Given the description of an element on the screen output the (x, y) to click on. 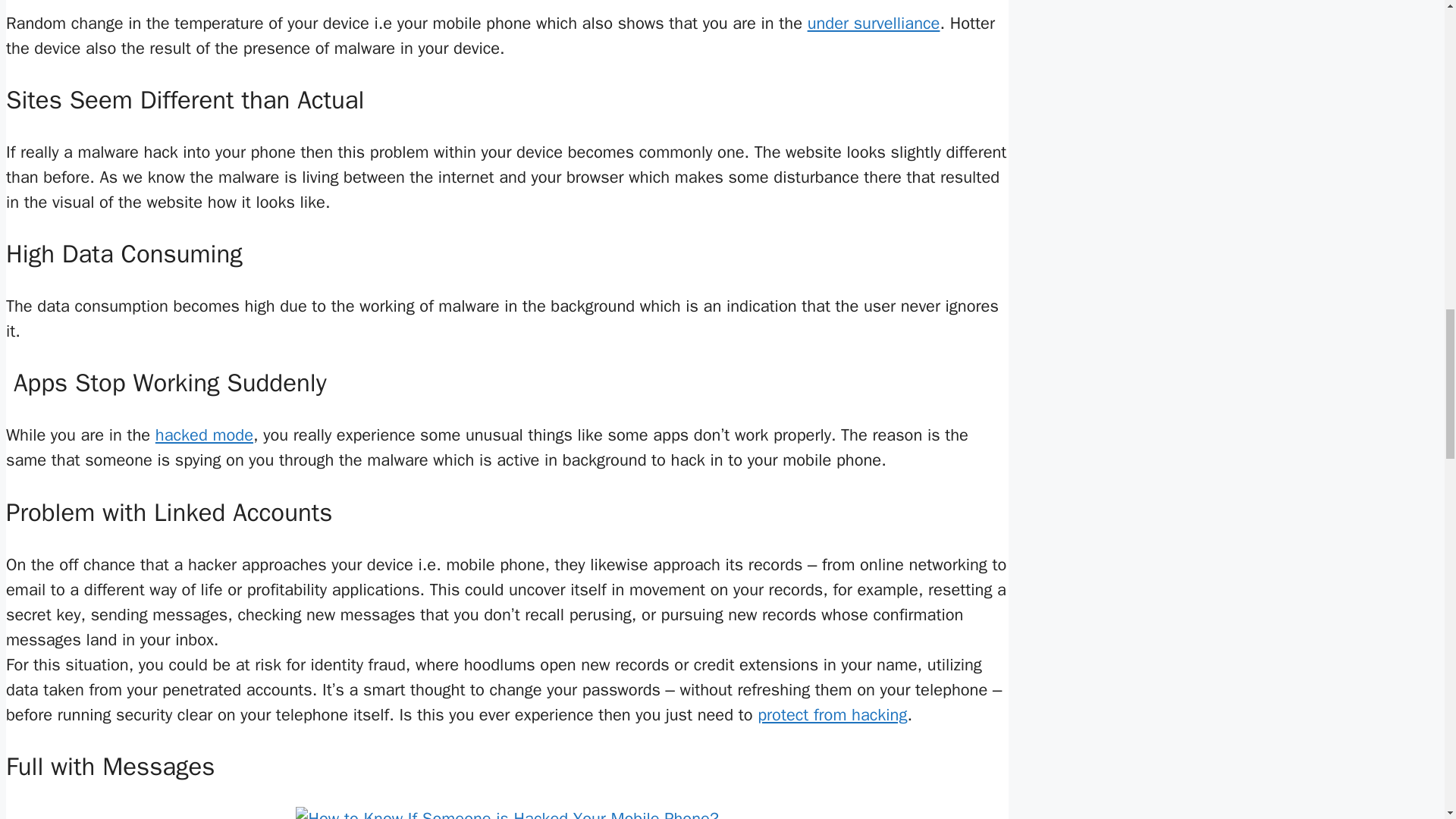
under survelliance (874, 22)
How to Know If Someone is Hacked Your Mobile Phone? (506, 812)
hacked mode (204, 435)
protect from hacking (832, 713)
